Given the description of an element on the screen output the (x, y) to click on. 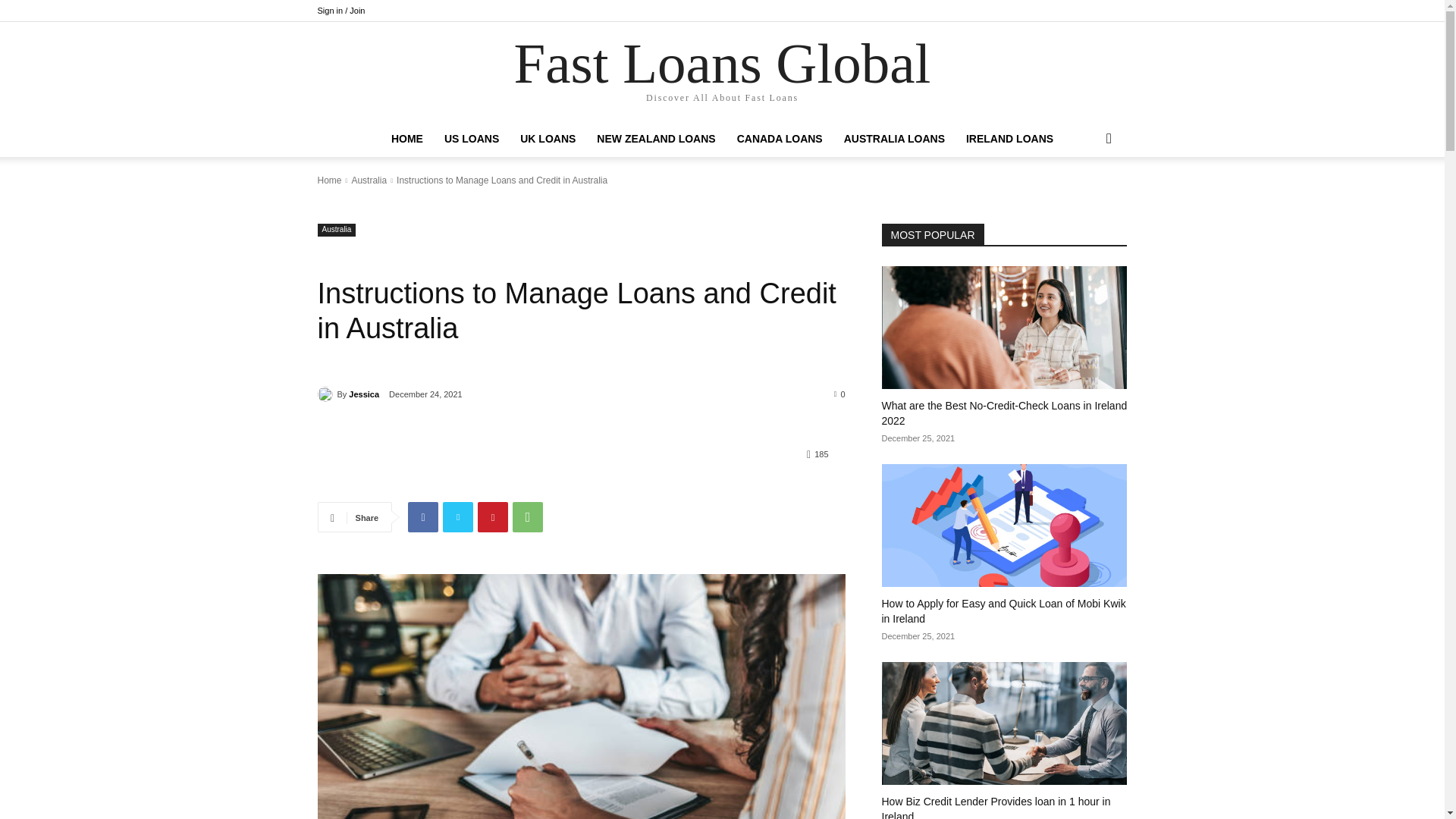
Australia (336, 229)
Search (1085, 199)
UK LOANS (547, 138)
IRELAND LOANS (1009, 138)
US LOANS (471, 138)
0 (839, 393)
HOME (406, 138)
Fast Loans Global Discover All About Fast Loans (722, 72)
Jessica (363, 394)
View all posts in Australia (368, 180)
